Given the description of an element on the screen output the (x, y) to click on. 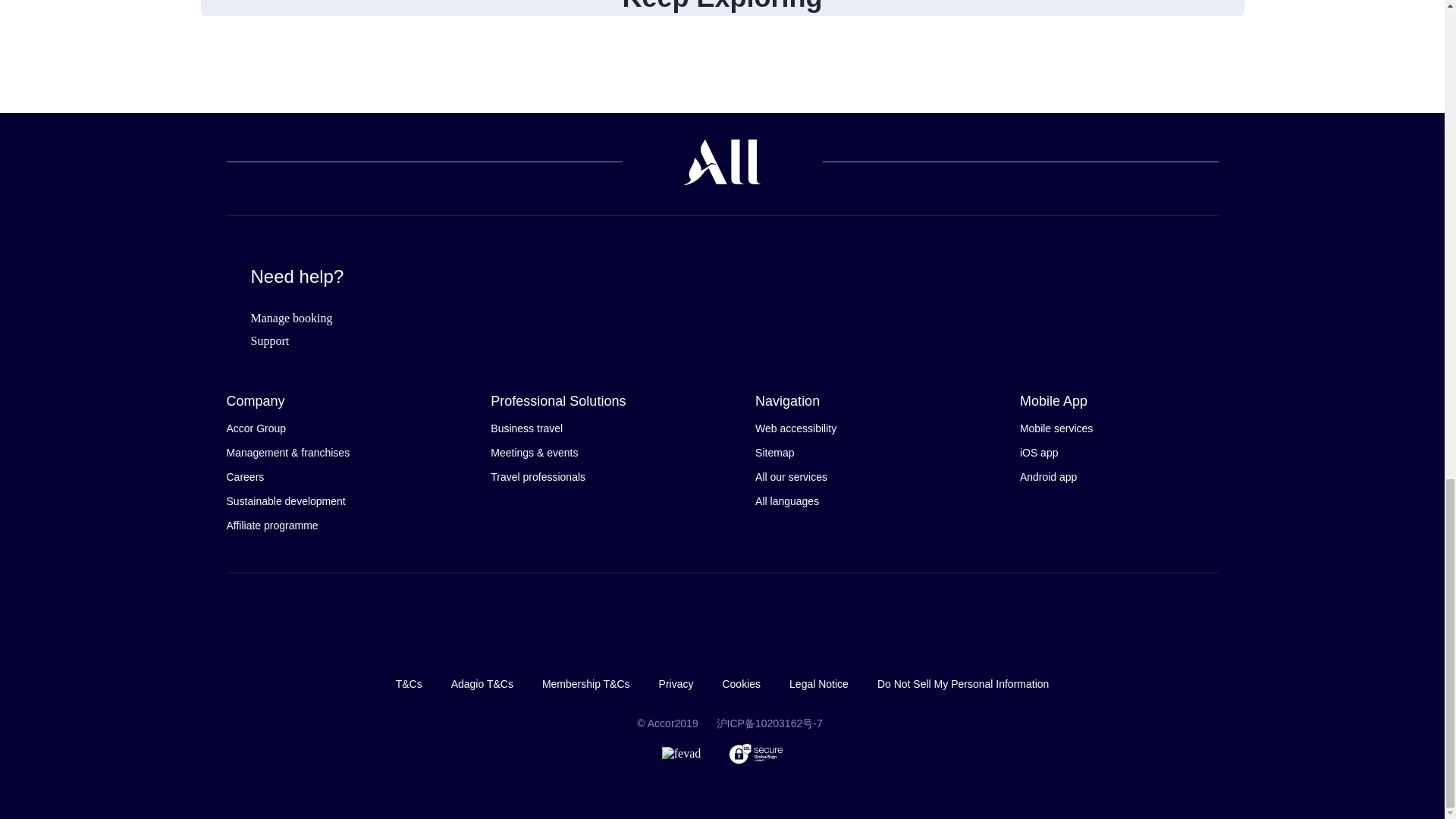
New window (769, 723)
General Terms and Conditions of Services (409, 684)
Adagio General Terms and Conditions of Services (482, 684)
